Given the description of an element on the screen output the (x, y) to click on. 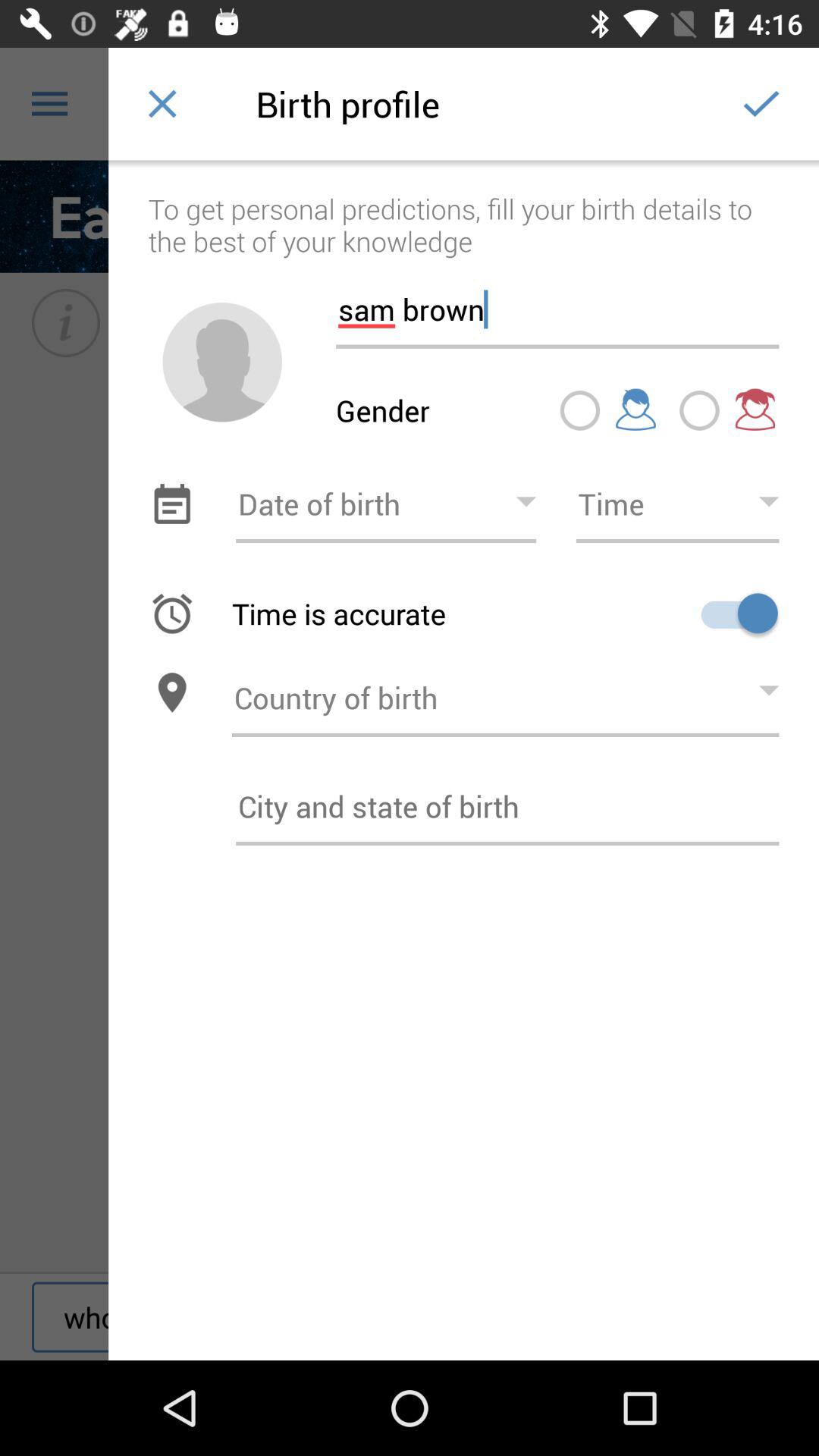
click beside girl (699, 410)
